Given the description of an element on the screen output the (x, y) to click on. 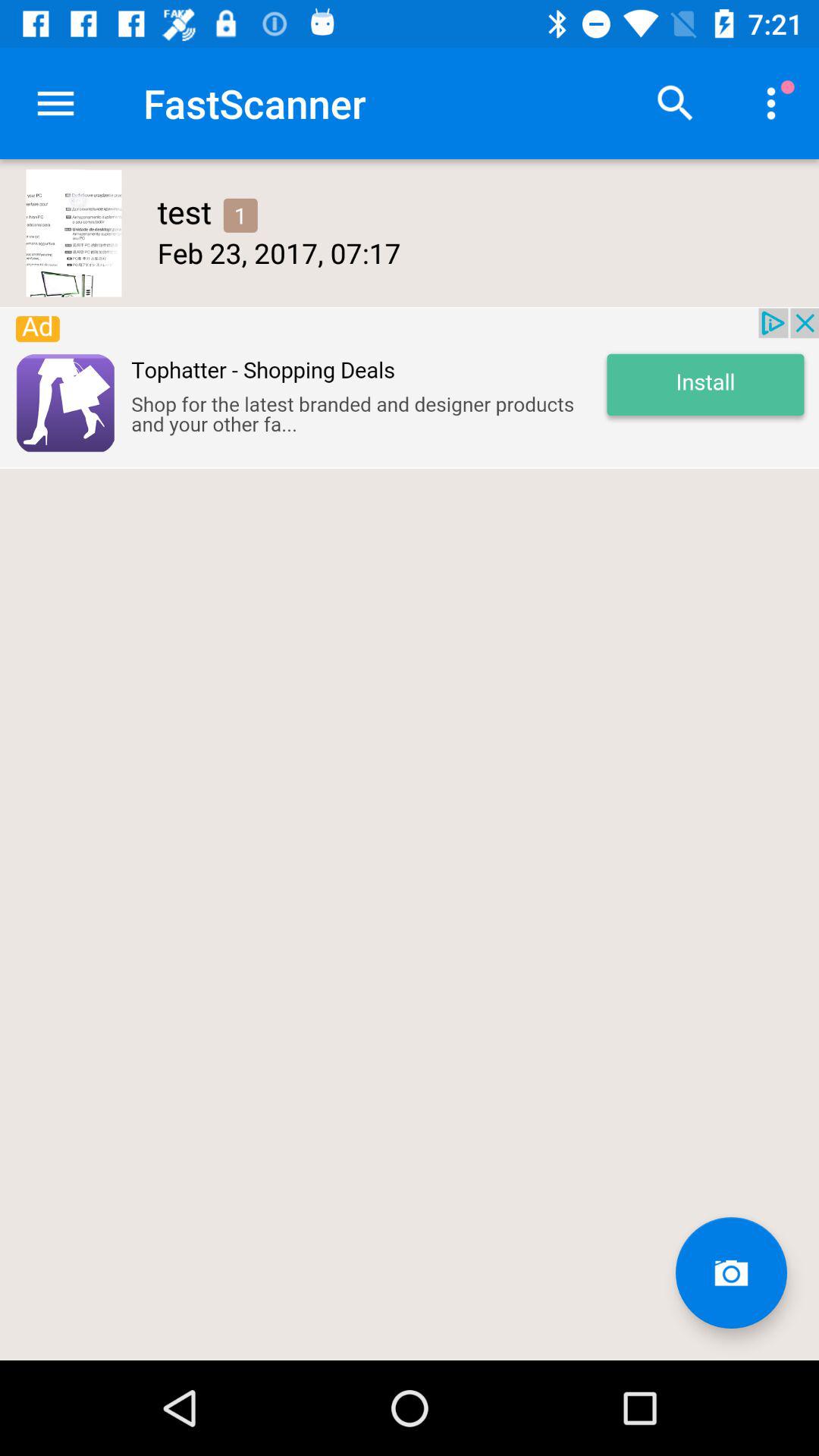
advertisement button (409, 387)
